Given the description of an element on the screen output the (x, y) to click on. 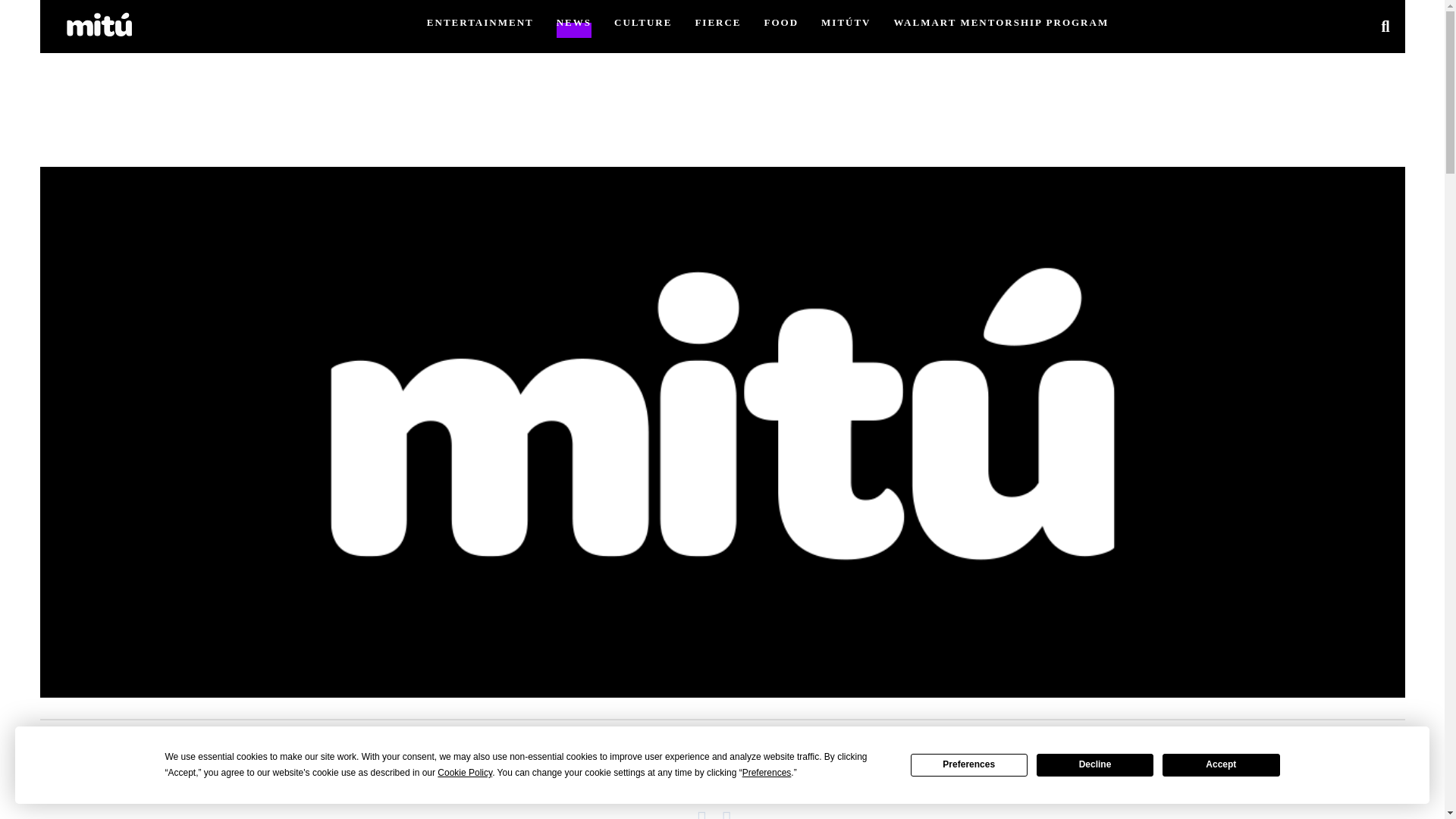
NEWS (573, 21)
FIERCE (717, 21)
Share on Facebook (709, 813)
ANDREA REINDL (667, 776)
Posts by Andrea Reindl (667, 776)
FOOD (781, 21)
Accept (1220, 765)
ENTERTAINMENT (480, 21)
WALMART MENTORSHIP PROGRAM (1001, 21)
3rd party ad content (721, 79)
Share via Email (734, 813)
Decline (1094, 765)
Preferences (969, 765)
CULTURE (642, 21)
3rd party ad content (721, 769)
